Given the description of an element on the screen output the (x, y) to click on. 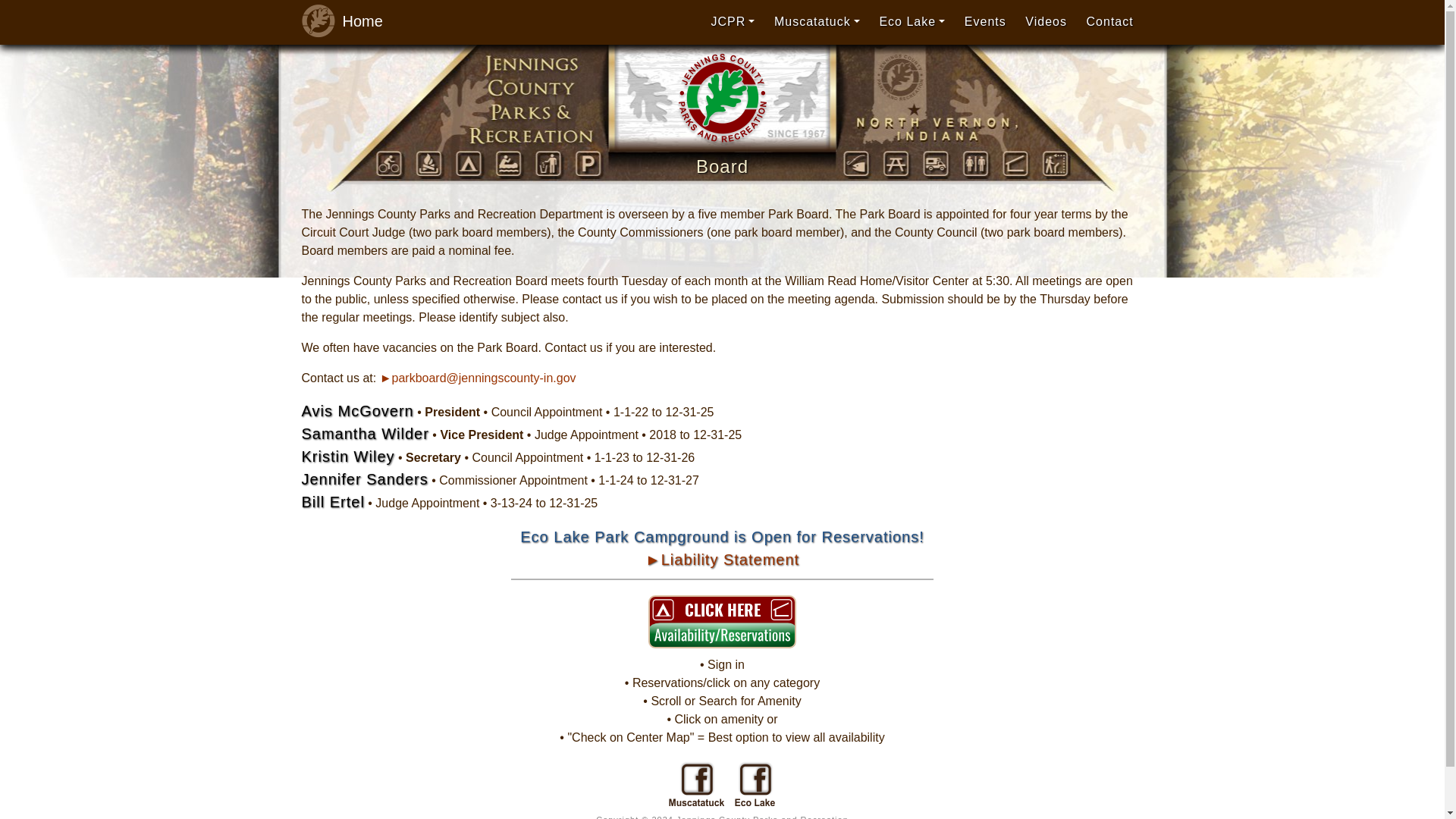
JCPR (732, 21)
Muscatatuck (816, 21)
Contact (1109, 21)
Eco Lake (912, 21)
Events (985, 21)
Videos (1046, 21)
Home (337, 21)
